Given the description of an element on the screen output the (x, y) to click on. 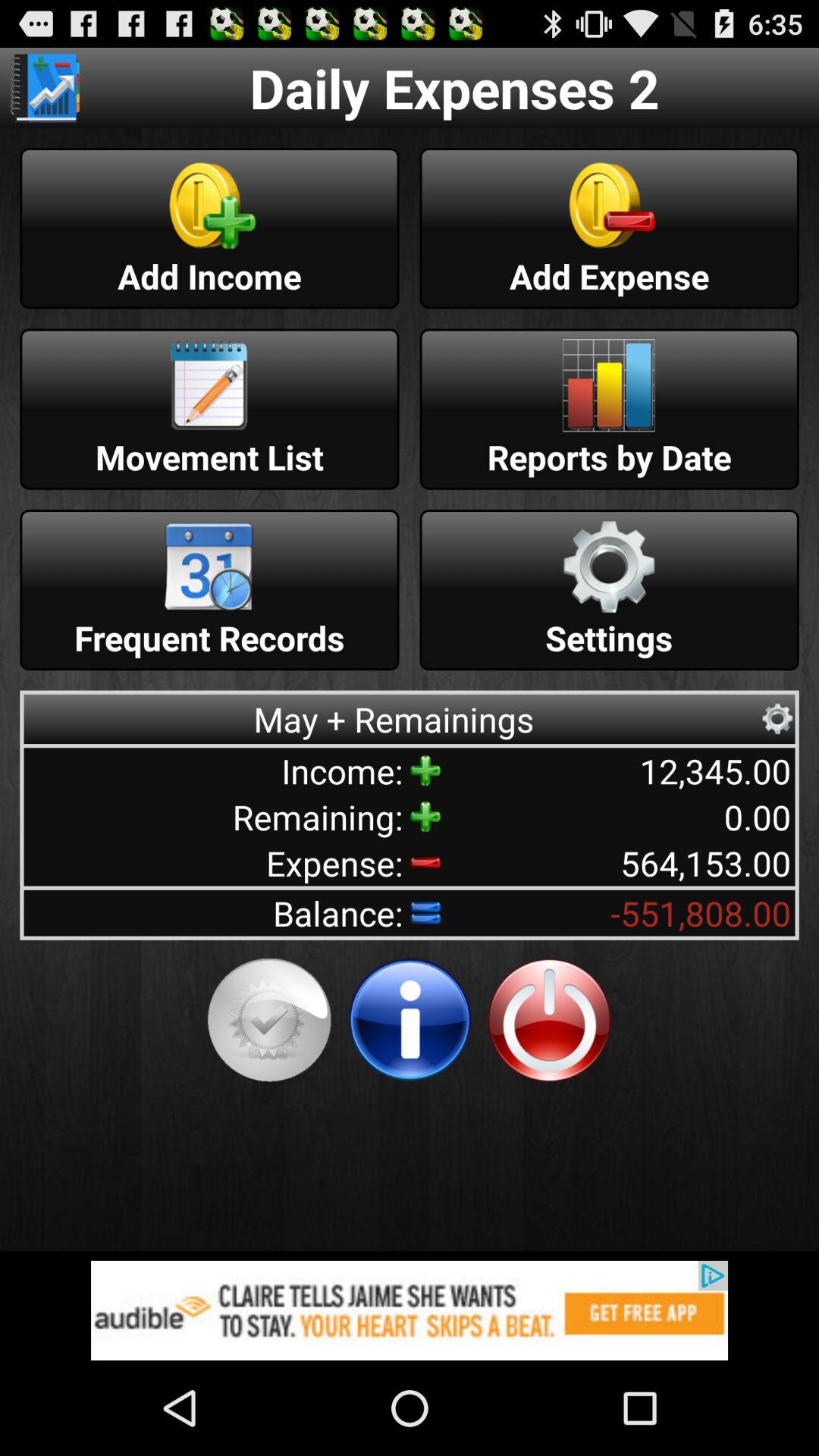
move to different page (44, 87)
